Given the description of an element on the screen output the (x, y) to click on. 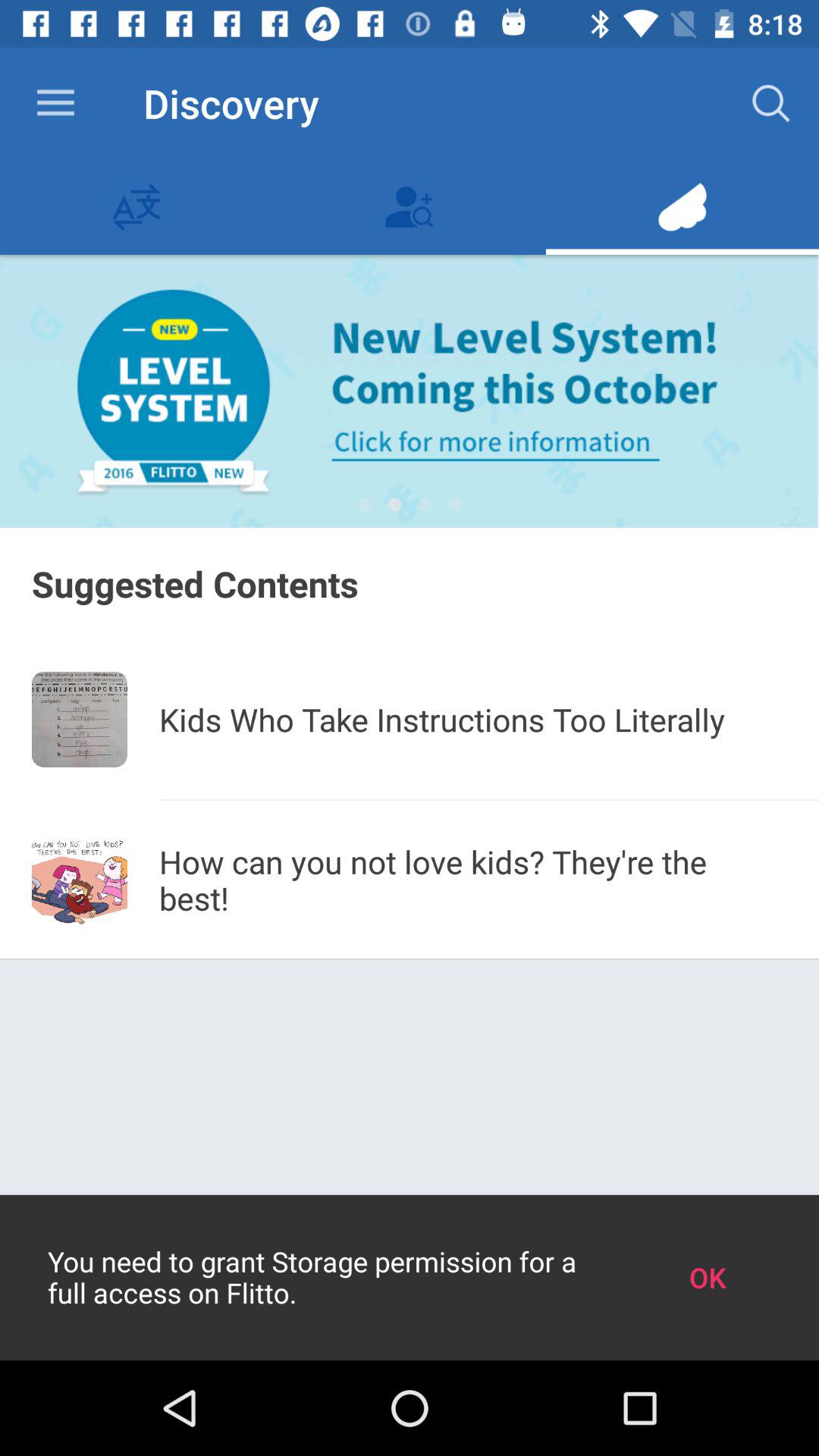
open the icon to the right of you need to (707, 1277)
